Given the description of an element on the screen output the (x, y) to click on. 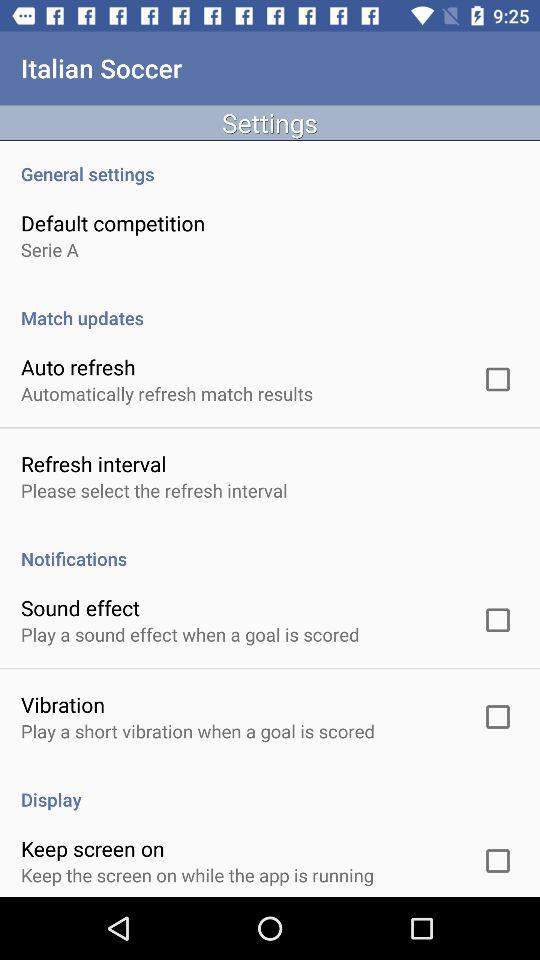
jump until the serie a item (49, 249)
